Given the description of an element on the screen output the (x, y) to click on. 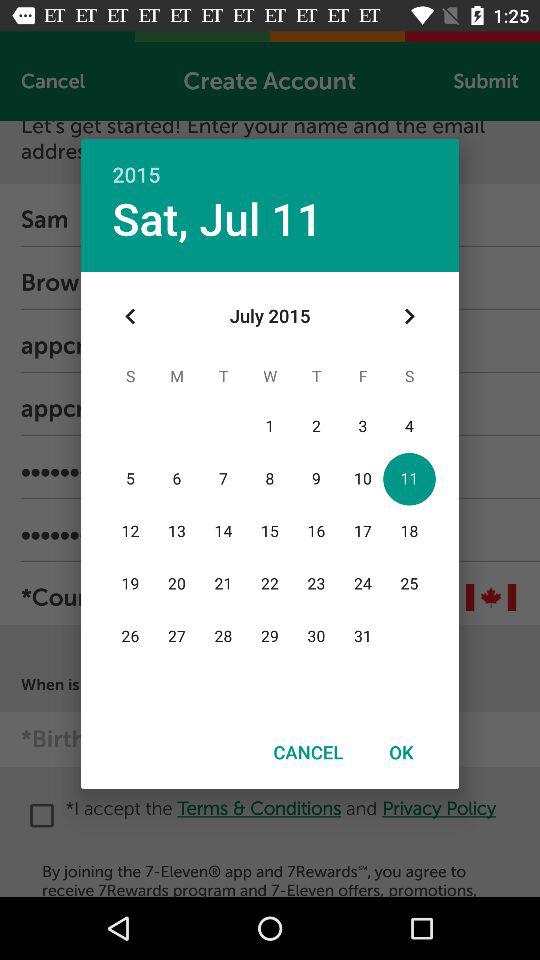
flip until ok (401, 751)
